Given the description of an element on the screen output the (x, y) to click on. 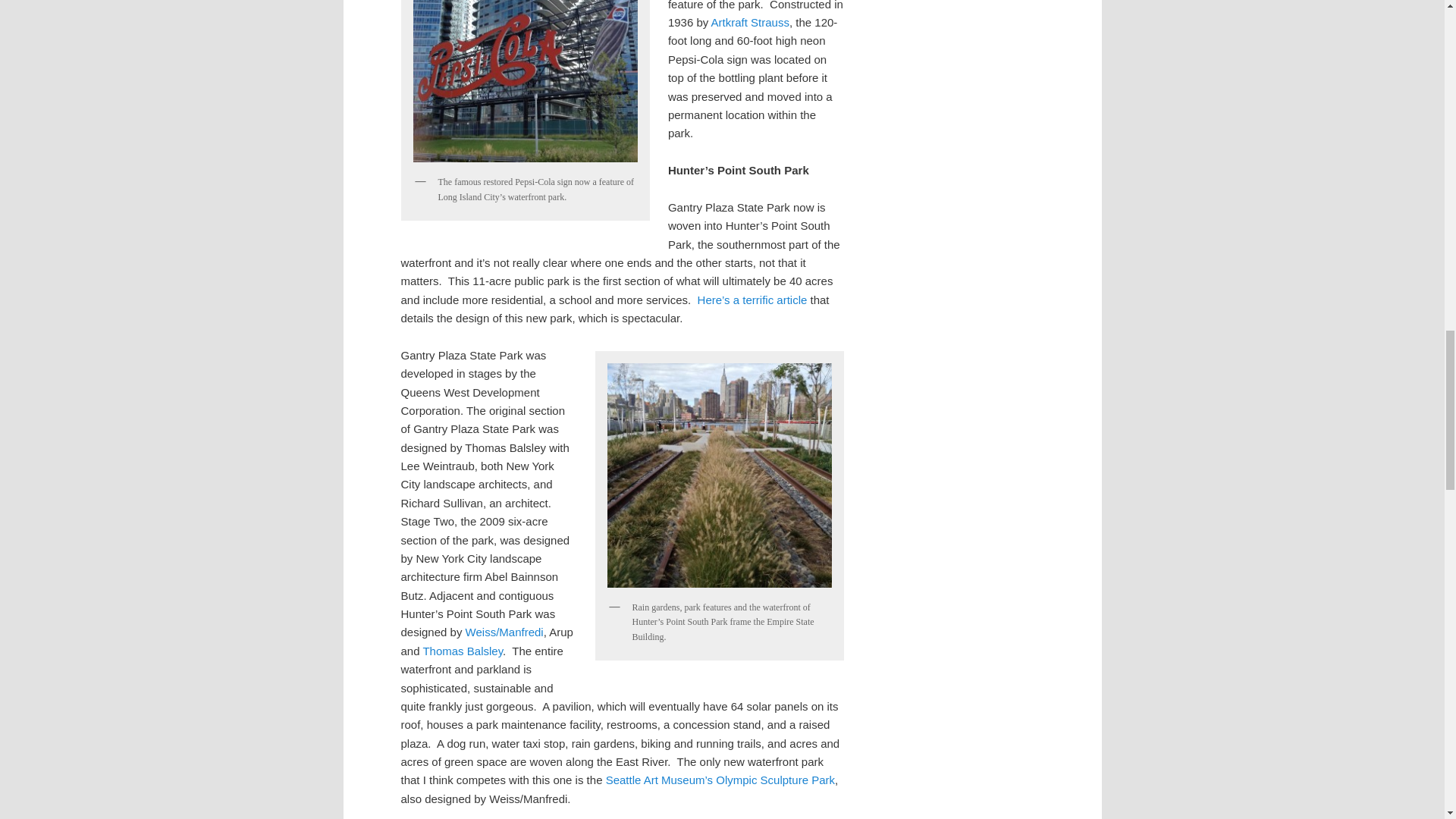
Artkraft Strauss (750, 21)
Thomas Balsley (462, 650)
Olympic Sculpture Park (719, 779)
Thomas Balsley (462, 650)
Hunter's Point South Park (752, 299)
